Given the description of an element on the screen output the (x, y) to click on. 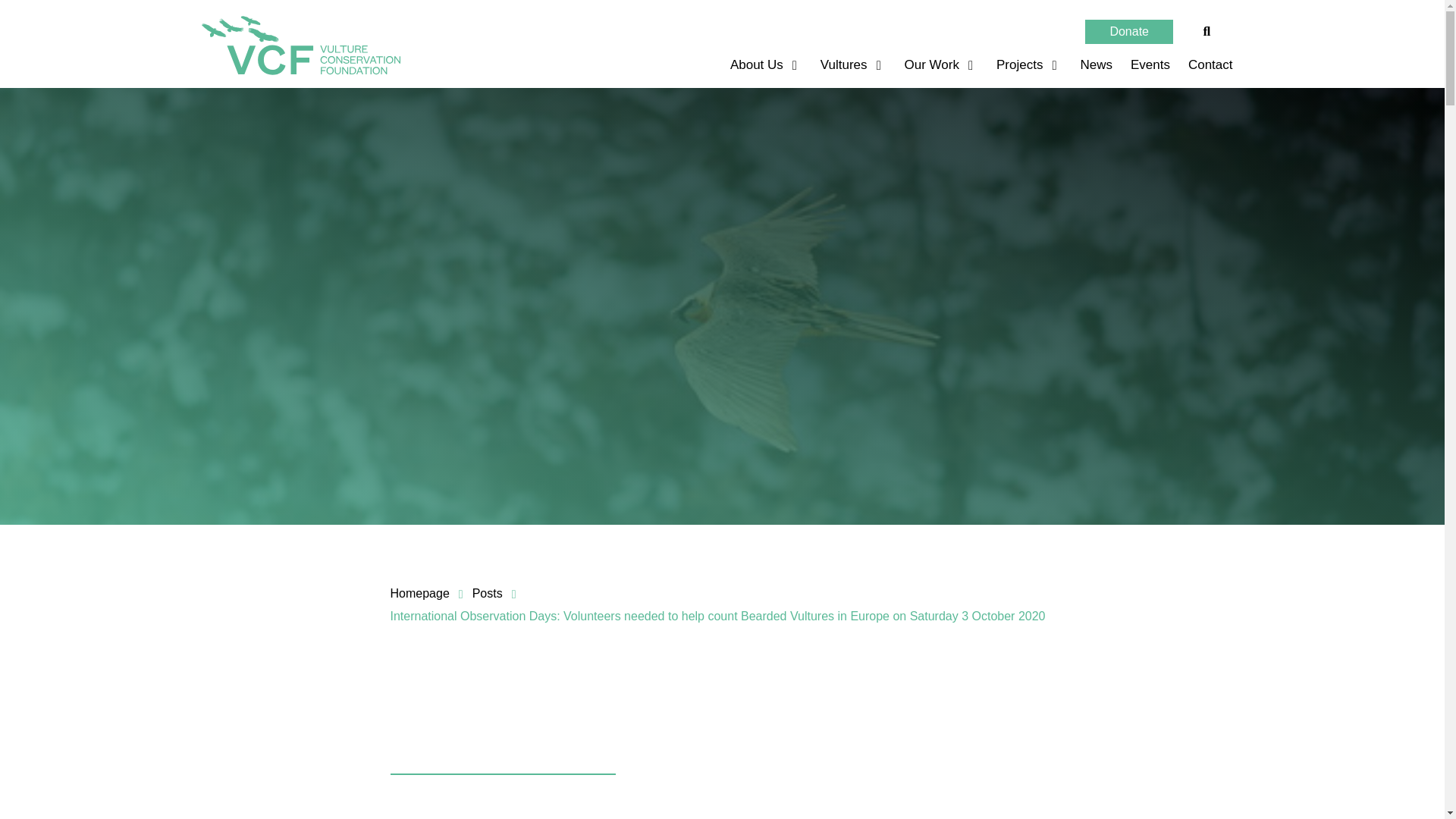
Donate (1128, 31)
Vultures (845, 64)
Our Work (933, 64)
About Us (758, 64)
